Given the description of an element on the screen output the (x, y) to click on. 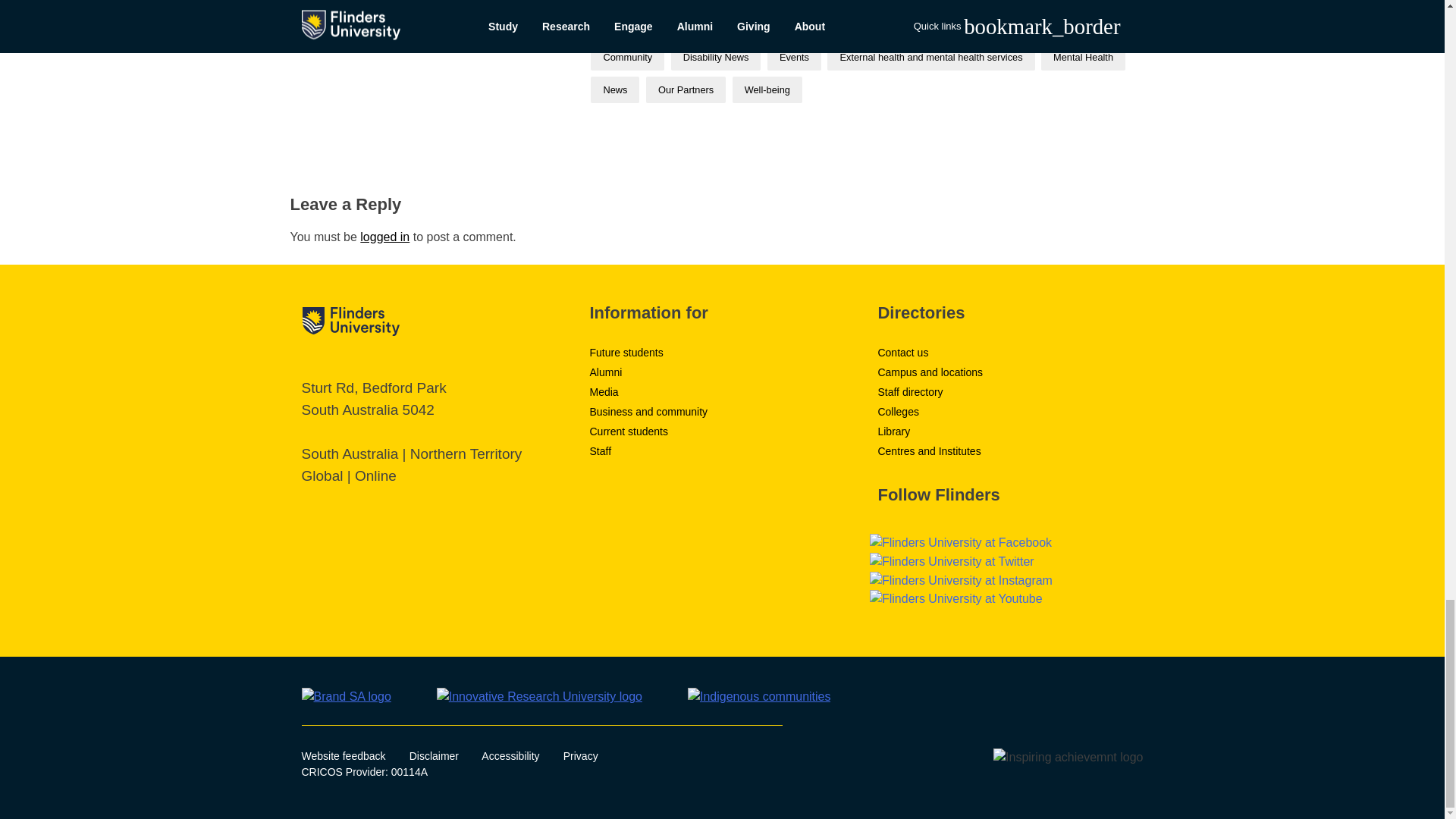
Mental Health (1083, 57)
Well-being (767, 89)
Our Partners (685, 89)
Events (794, 57)
News (615, 89)
Disability News (716, 57)
External health and mental health services (930, 57)
Community (627, 57)
